Given the description of an element on the screen output the (x, y) to click on. 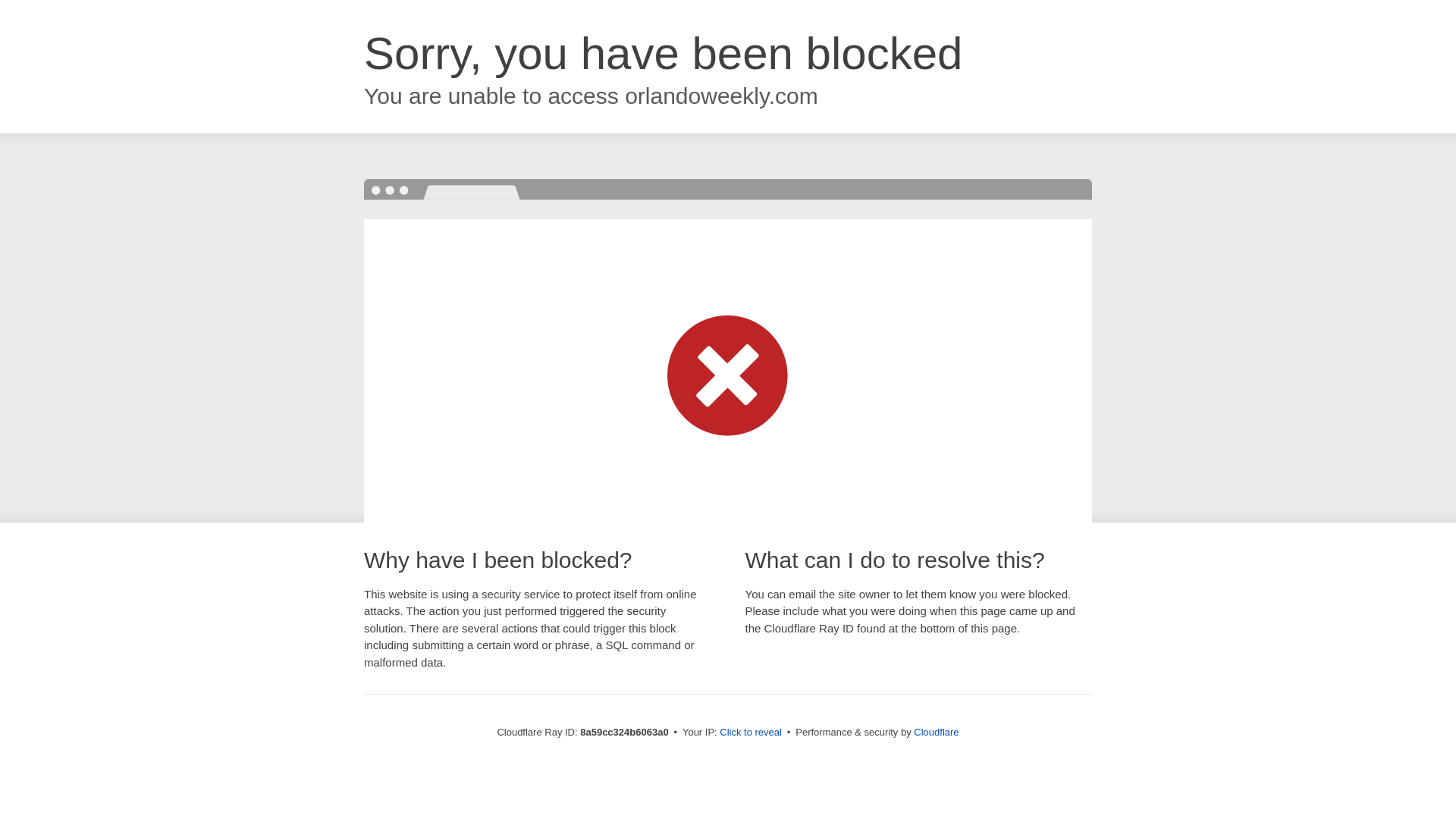
Click to reveal (750, 732)
Cloudflare (936, 731)
